Given the description of an element on the screen output the (x, y) to click on. 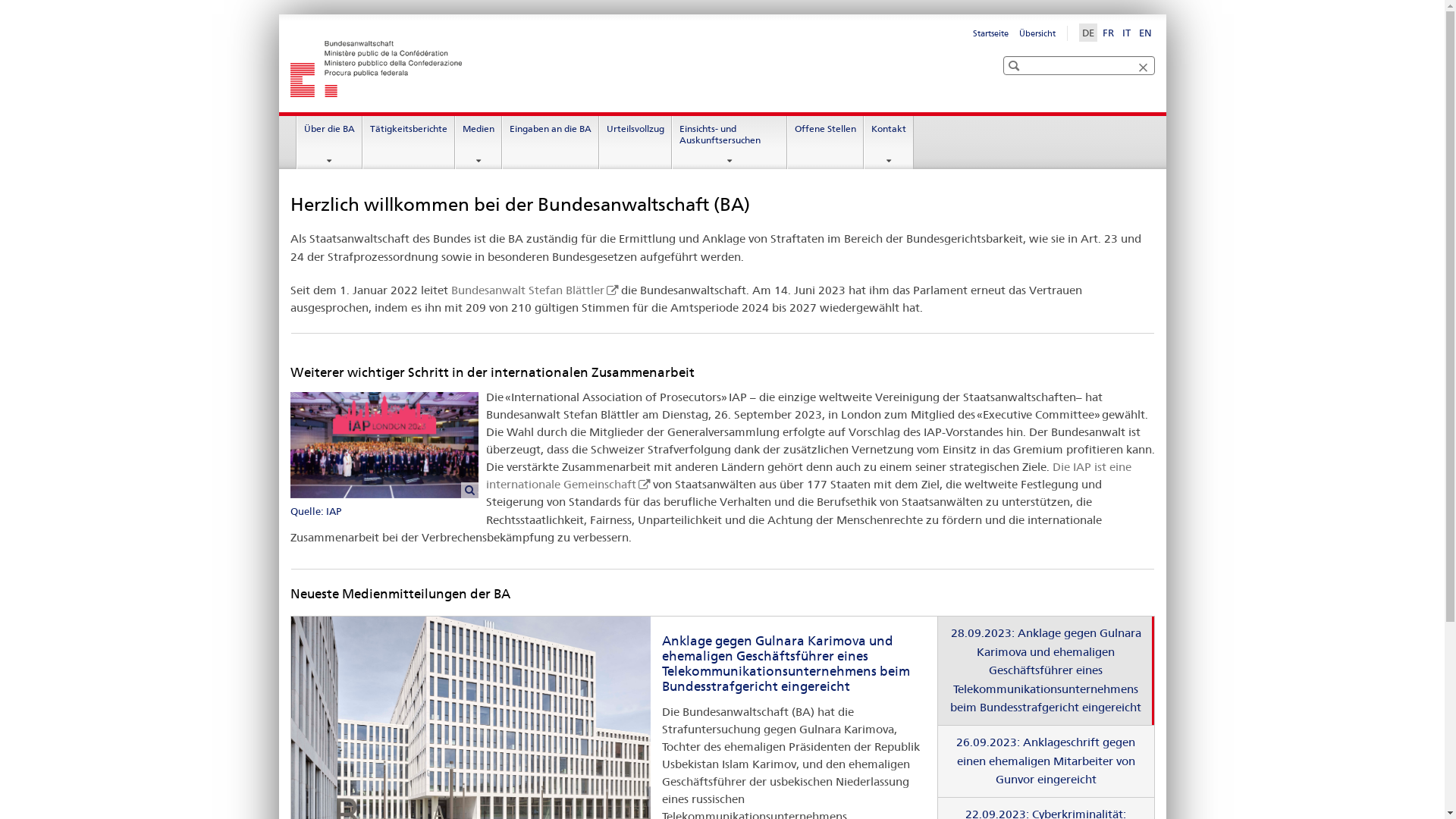
Urteilsvollzug Element type: text (635, 142)
DE Element type: text (1087, 32)
Quelle: IAP Element type: text (387, 457)
Kontakt Element type: text (888, 142)
Eingaben an die BA Element type: text (550, 142)
Einsichts- und Auskunftsersuchen Element type: text (729, 142)
Medien Element type: text (478, 142)
Startseite Element type: hover (505, 68)
IT Element type: text (1126, 32)
Offene Stellen Element type: text (824, 142)
FR Element type: text (1108, 32)
EN Element type: text (1144, 32)
Startseite Element type: text (990, 33)
Die IAP ist eine internationale Gemeinschaft Element type: text (807, 475)
